Given the description of an element on the screen output the (x, y) to click on. 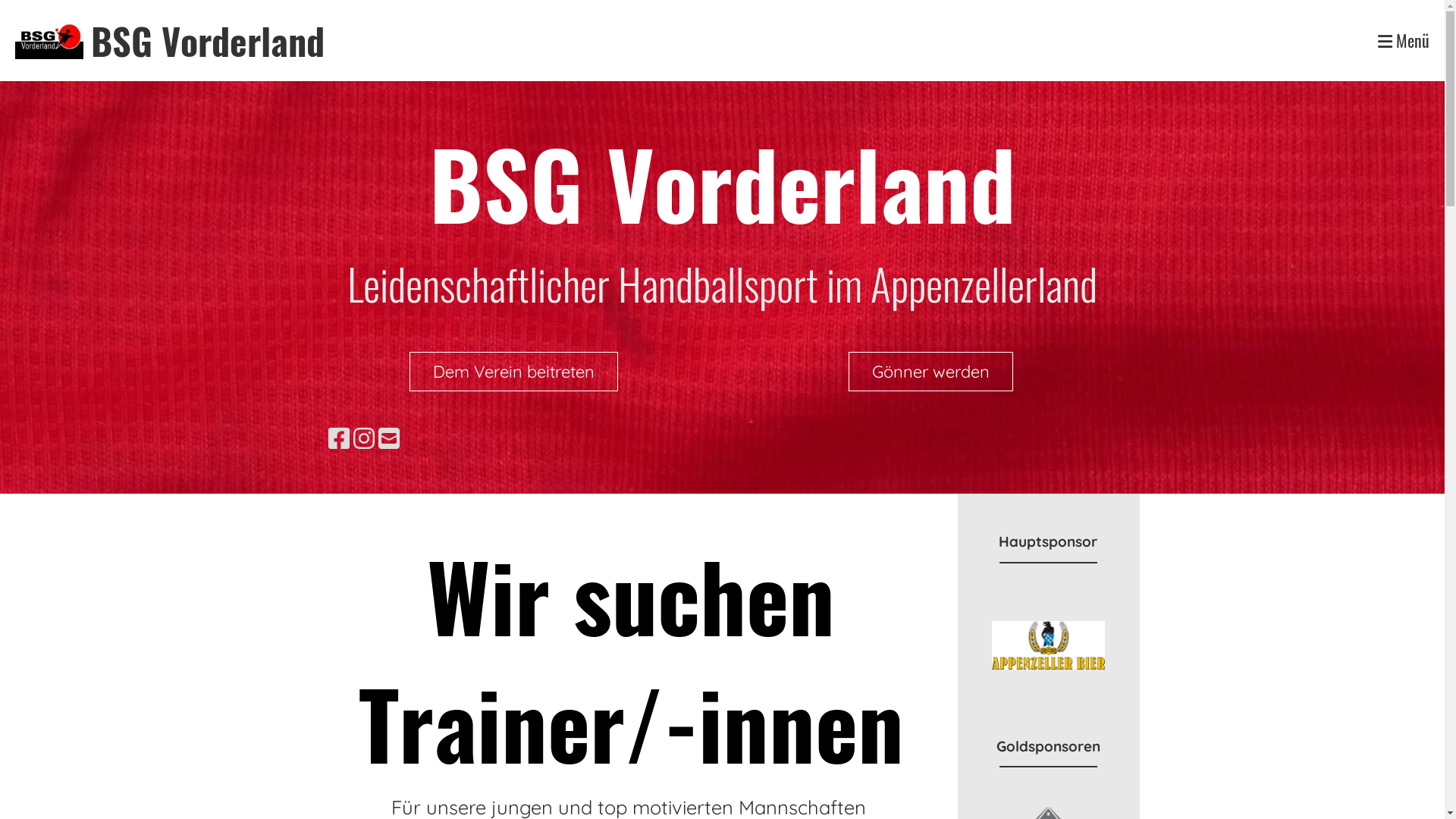
Dem Verein beitreten Element type: text (513, 371)
BSG Vorderland Element type: text (207, 40)
